Given the description of an element on the screen output the (x, y) to click on. 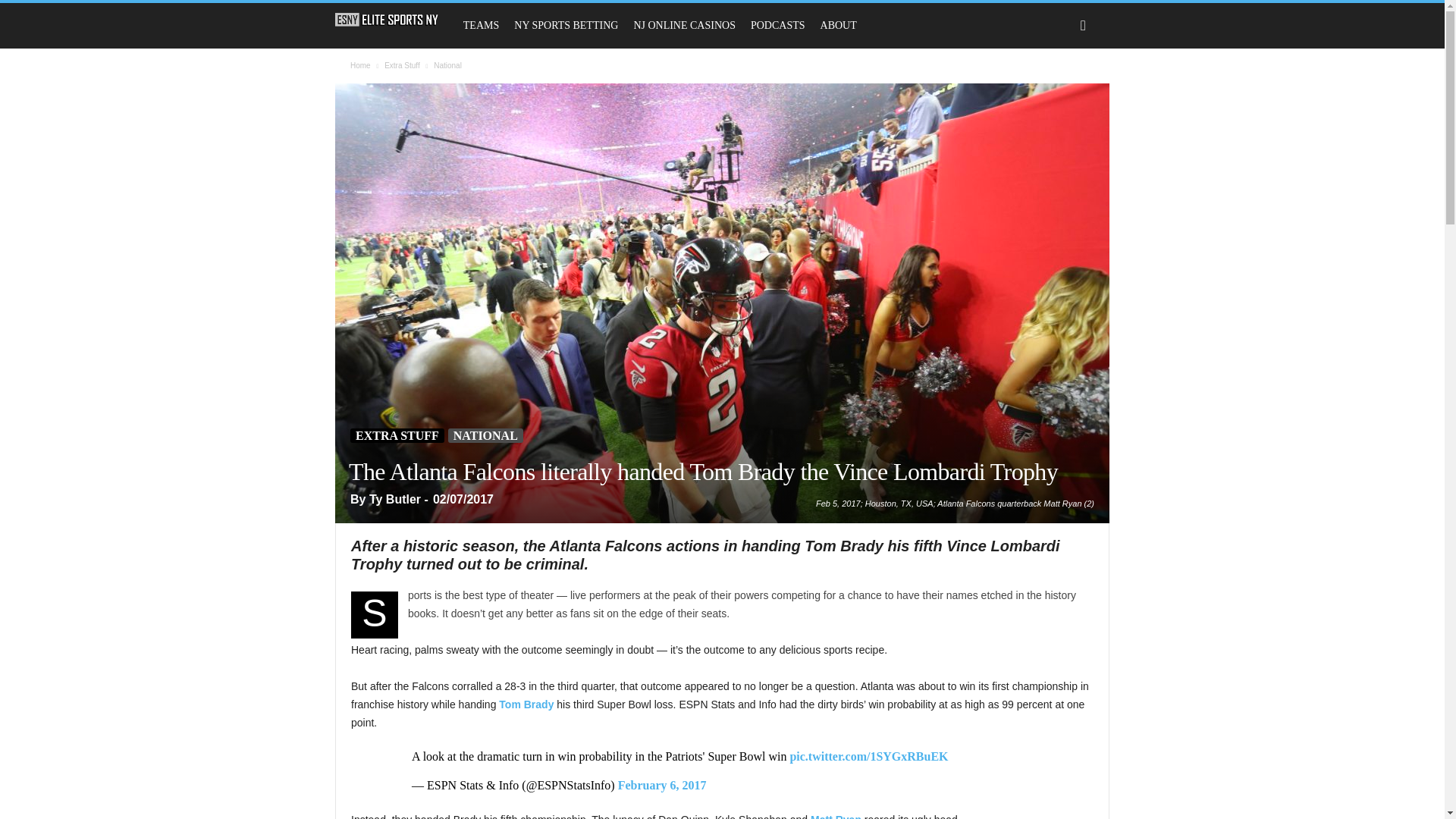
View all posts in Extra Stuff (402, 65)
TEAMS (480, 25)
Elite Sports NY (386, 19)
Elite Sports NY (394, 19)
